Given the description of an element on the screen output the (x, y) to click on. 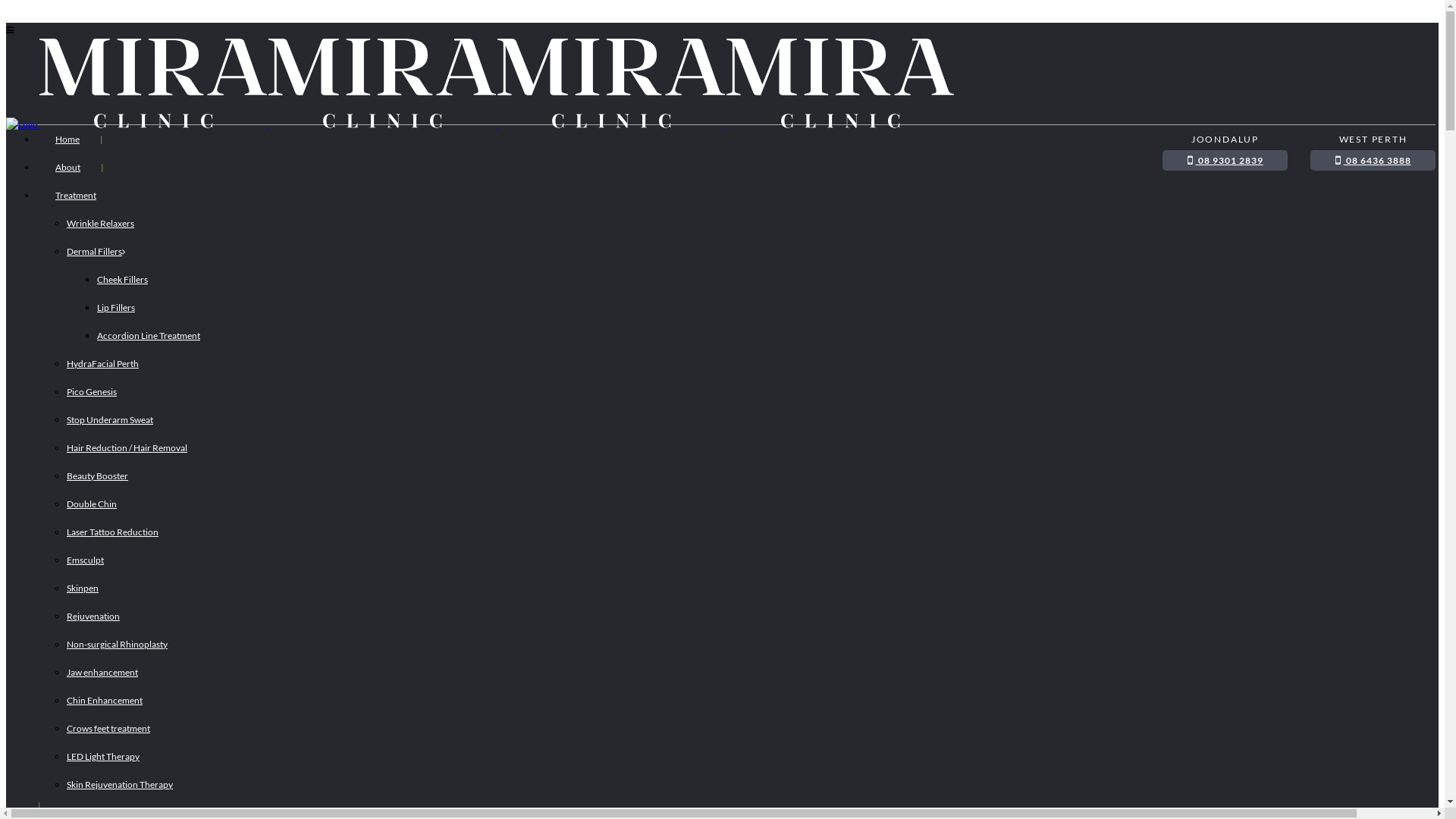
Jaw enhancement Element type: text (102, 671)
Stop Underarm Sweat Element type: text (109, 419)
Wrinkle Relaxers Element type: text (100, 223)
Skinpen Element type: text (82, 587)
08 6436 3888 Element type: text (1372, 160)
Beauty Booster Element type: text (97, 475)
Treatment Element type: text (75, 194)
Laser Tattoo Reduction Element type: text (112, 531)
Hair Reduction / Hair Removal Element type: text (126, 447)
About Element type: text (67, 166)
Cheek Fillers Element type: text (122, 279)
Pico Genesis Element type: text (91, 391)
Double Chin Element type: text (91, 503)
Dermal Fillers Element type: text (95, 251)
Non-surgical Rhinoplasty Element type: text (116, 643)
HydraFacial Perth Element type: text (102, 363)
Chin Enhancement Element type: text (104, 700)
Emsculpt Element type: text (84, 559)
08 9301 2839 Element type: text (1224, 160)
Accordion Line Treatment Element type: text (148, 335)
Crows feet treatment Element type: text (108, 728)
Rejuvenation Element type: text (92, 615)
Home Element type: text (67, 138)
Lip Fillers Element type: text (115, 307)
LED Light Therapy Element type: text (102, 756)
Skin Rejuvenation Therapy Element type: text (119, 784)
